Given the description of an element on the screen output the (x, y) to click on. 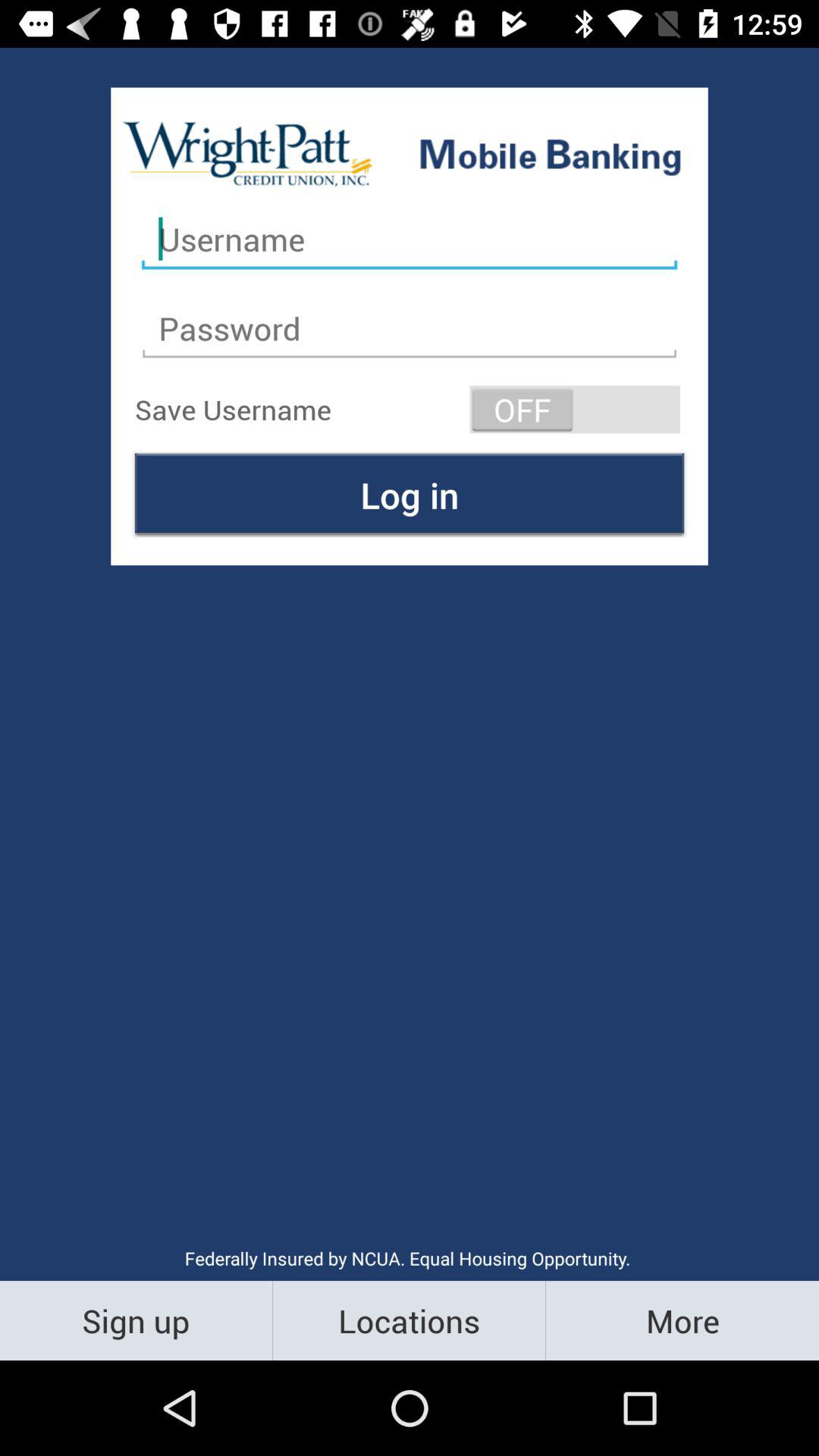
choose the icon above federally insured by icon (409, 494)
